Given the description of an element on the screen output the (x, y) to click on. 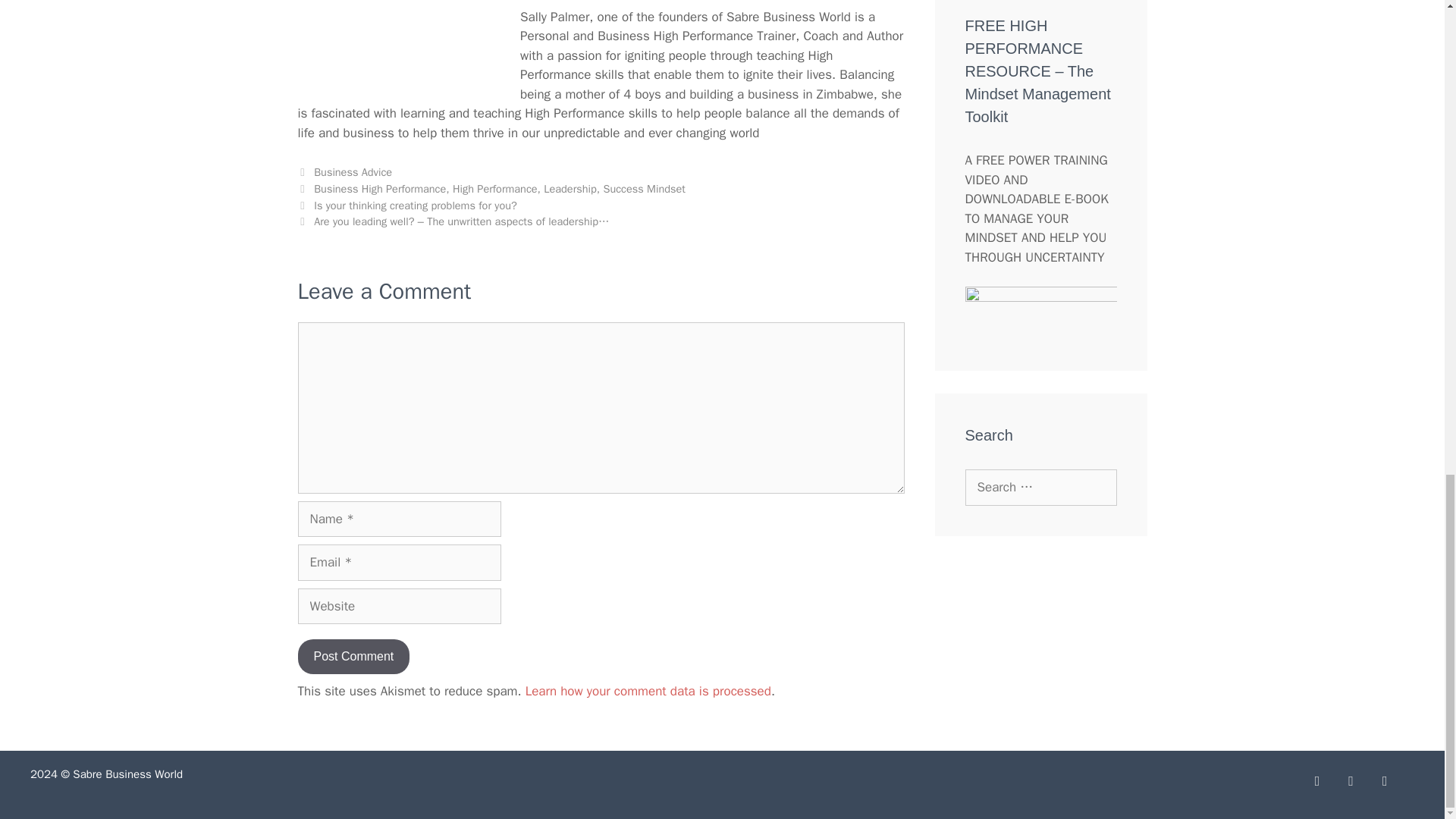
High Performance (494, 188)
Search for: (1039, 487)
Twitter (1350, 781)
Success Mindset (643, 188)
Instagram (1384, 781)
Post Comment (353, 656)
Business High Performance (379, 188)
Facebook (1316, 781)
Business Advice (352, 172)
Post Comment (353, 656)
Leadership (569, 188)
Scroll back to top (1406, 399)
Is your thinking creating problems for you? (415, 205)
Learn how your comment data is processed (648, 691)
